Given the description of an element on the screen output the (x, y) to click on. 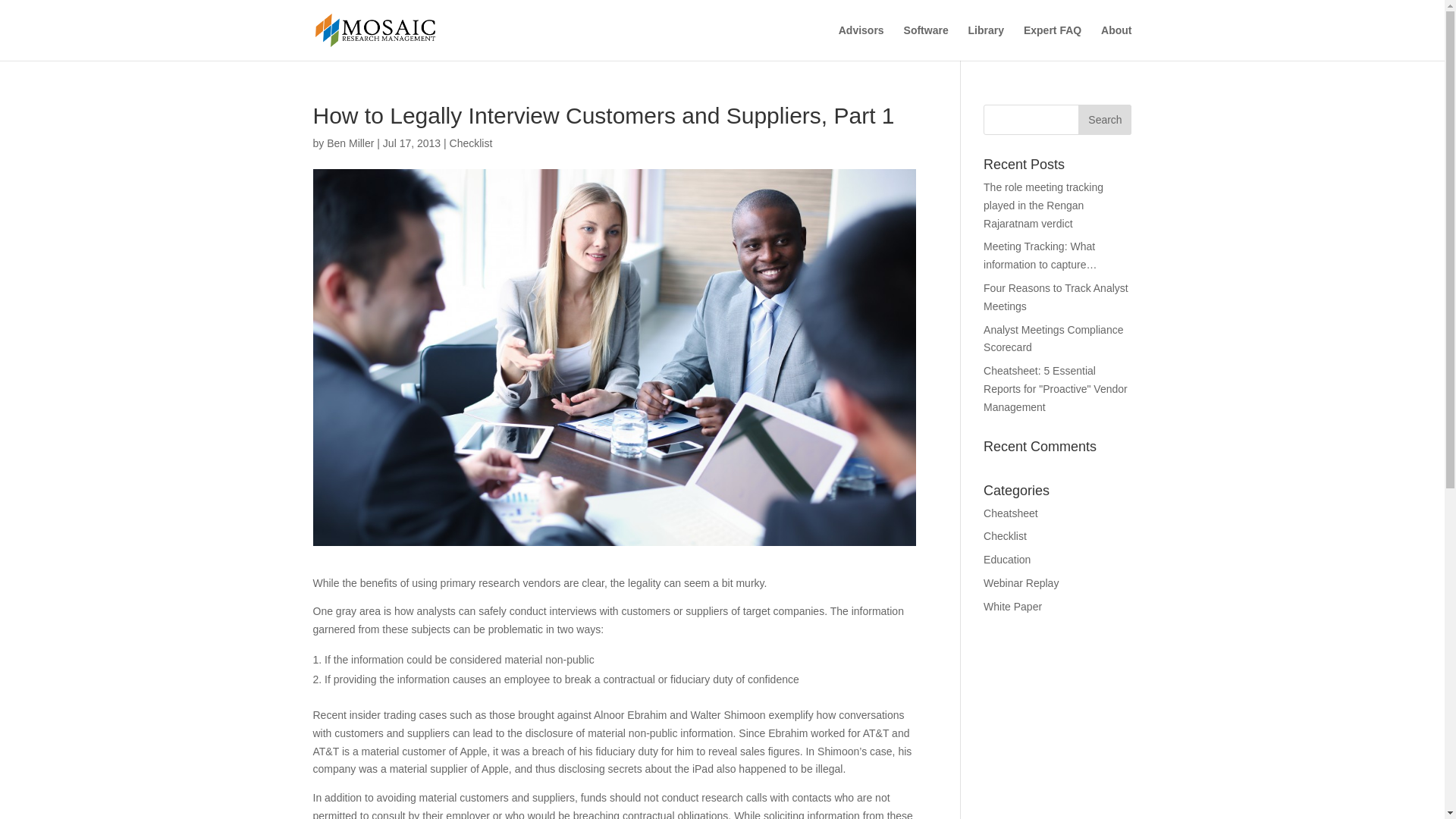
Search (1104, 119)
Webinar Replay (1021, 582)
Advisors (860, 42)
Expert FAQ (1052, 42)
Analyst Meetings Compliance Scorecard (1053, 338)
Posts by Ben Miller (350, 143)
Software (926, 42)
Checklist (1005, 535)
Library (986, 42)
Education (1007, 559)
White Paper (1013, 606)
Ben Miller (350, 143)
Cheatsheet (1011, 512)
